Given the description of an element on the screen output the (x, y) to click on. 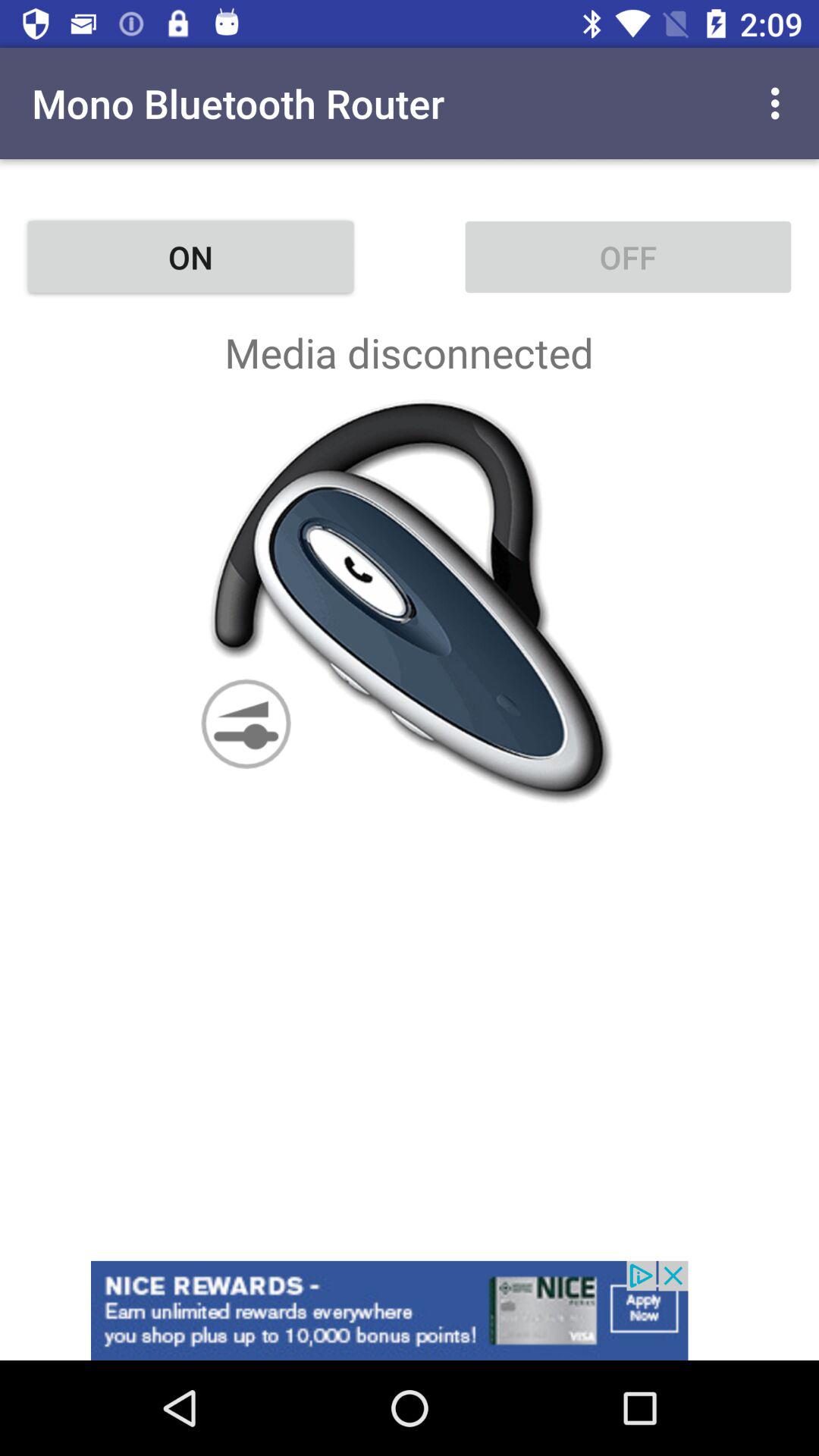
open device volume control (409, 600)
